Given the description of an element on the screen output the (x, y) to click on. 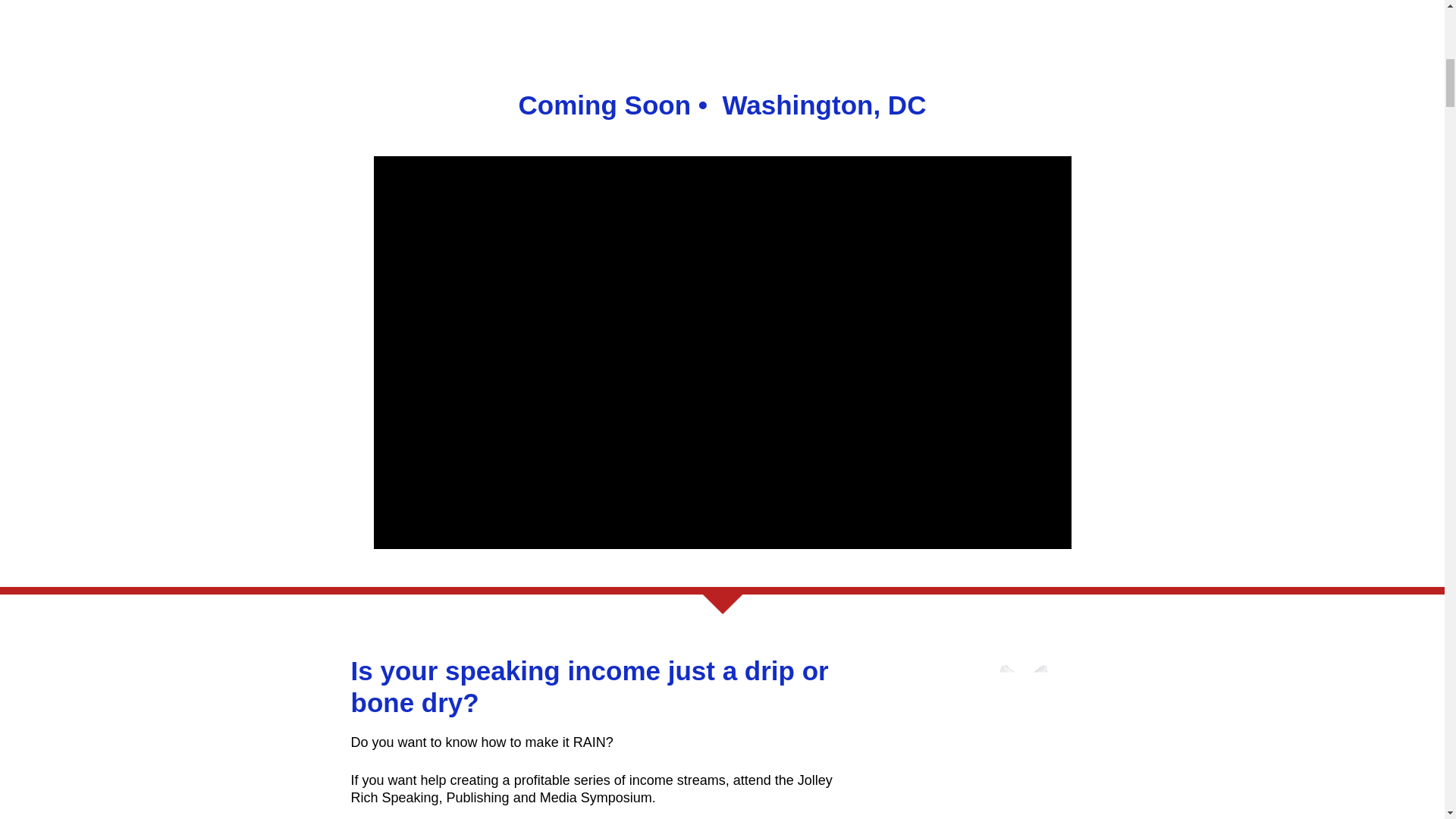
Scroll back to top (1406, 720)
